Given the description of an element on the screen output the (x, y) to click on. 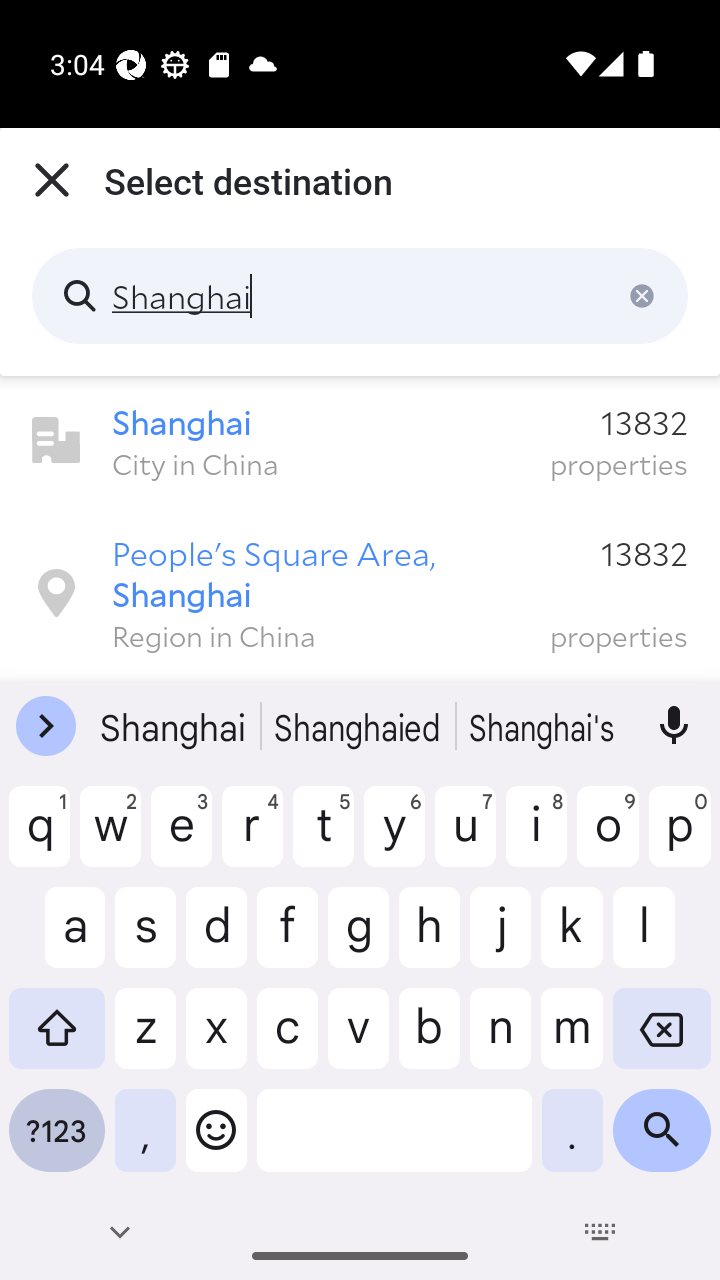
Shanghai (359, 296)
Shanghai 13832 City in China properties (360, 441)
